Given the description of an element on the screen output the (x, y) to click on. 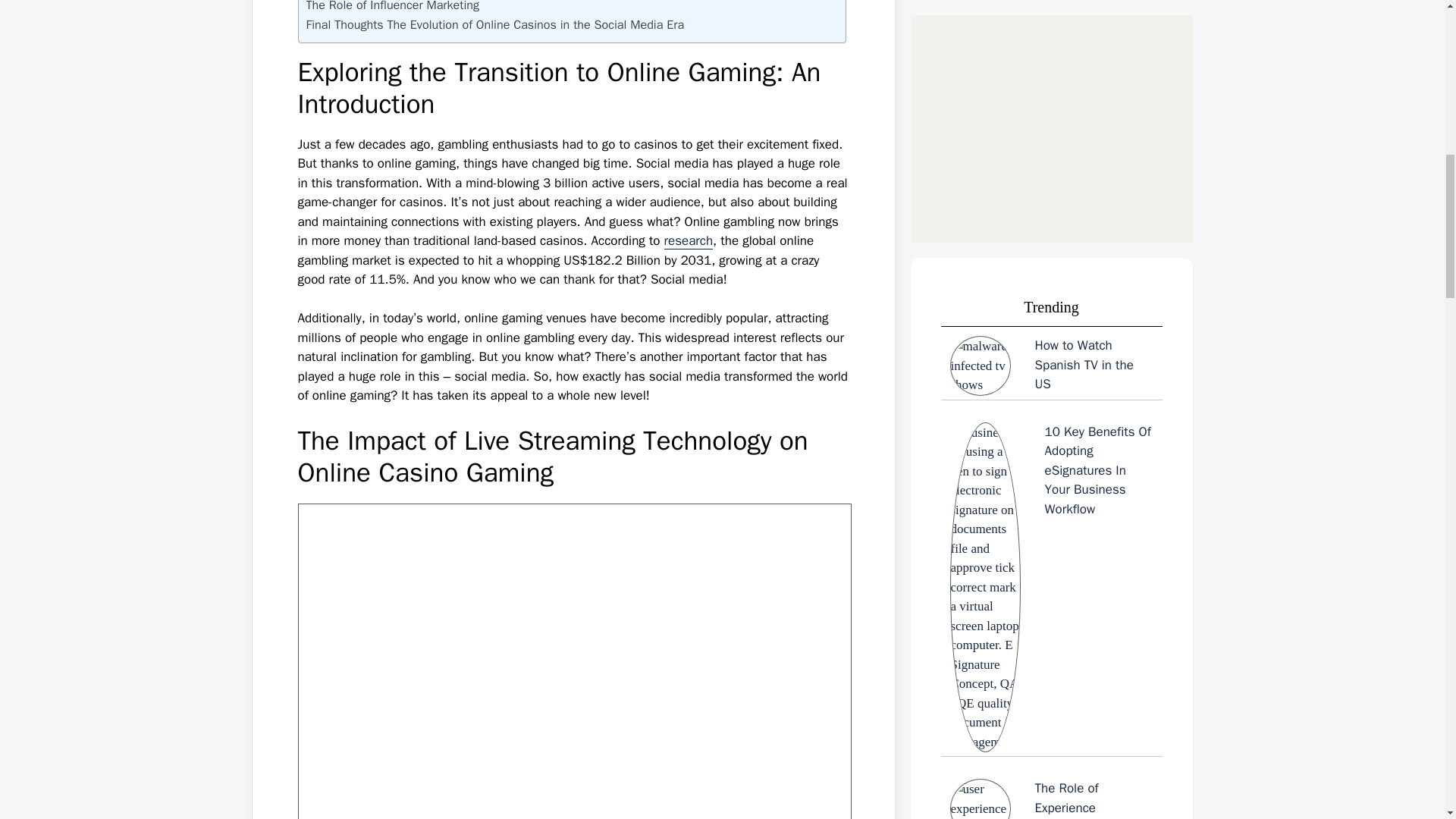
The Impact Of Proactive IT Support On Business Continuity (1051, 659)
The Role of Experience Platforms in Customer Interactions  (1051, 57)
How To Set Strategic Business Priorities In 2024 (1051, 496)
Why Is My Internet So Slow at Night? (1051, 285)
Navigating the Maze: Understanding Search Engine Redirects (1051, 170)
Top Benefits Of Using Enterprise Hosting Solutions (1051, 806)
The Role of Influencer Marketing (392, 7)
The Role of Influencer Marketing (392, 7)
research (688, 240)
